Given the description of an element on the screen output the (x, y) to click on. 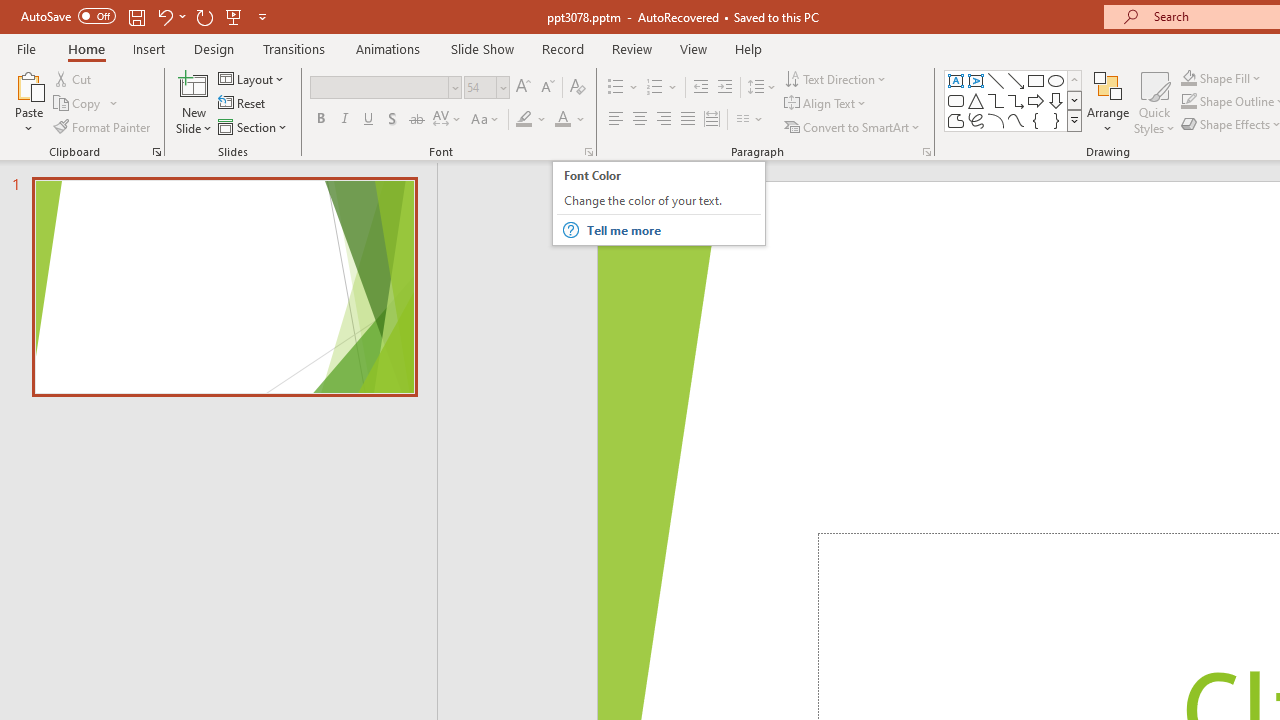
Text Highlight Color Yellow (524, 119)
Font... (588, 151)
New Slide (193, 102)
Change Case (486, 119)
Freeform: Shape (955, 120)
Home (86, 48)
Arc (995, 120)
Paragraph... (926, 151)
New Slide (193, 84)
Increase Indent (725, 87)
Quick Styles (1154, 102)
Character Spacing (447, 119)
Connector: Elbow Arrow (1016, 100)
Align Left (616, 119)
Freeform: Scribble (975, 120)
